Given the description of an element on the screen output the (x, y) to click on. 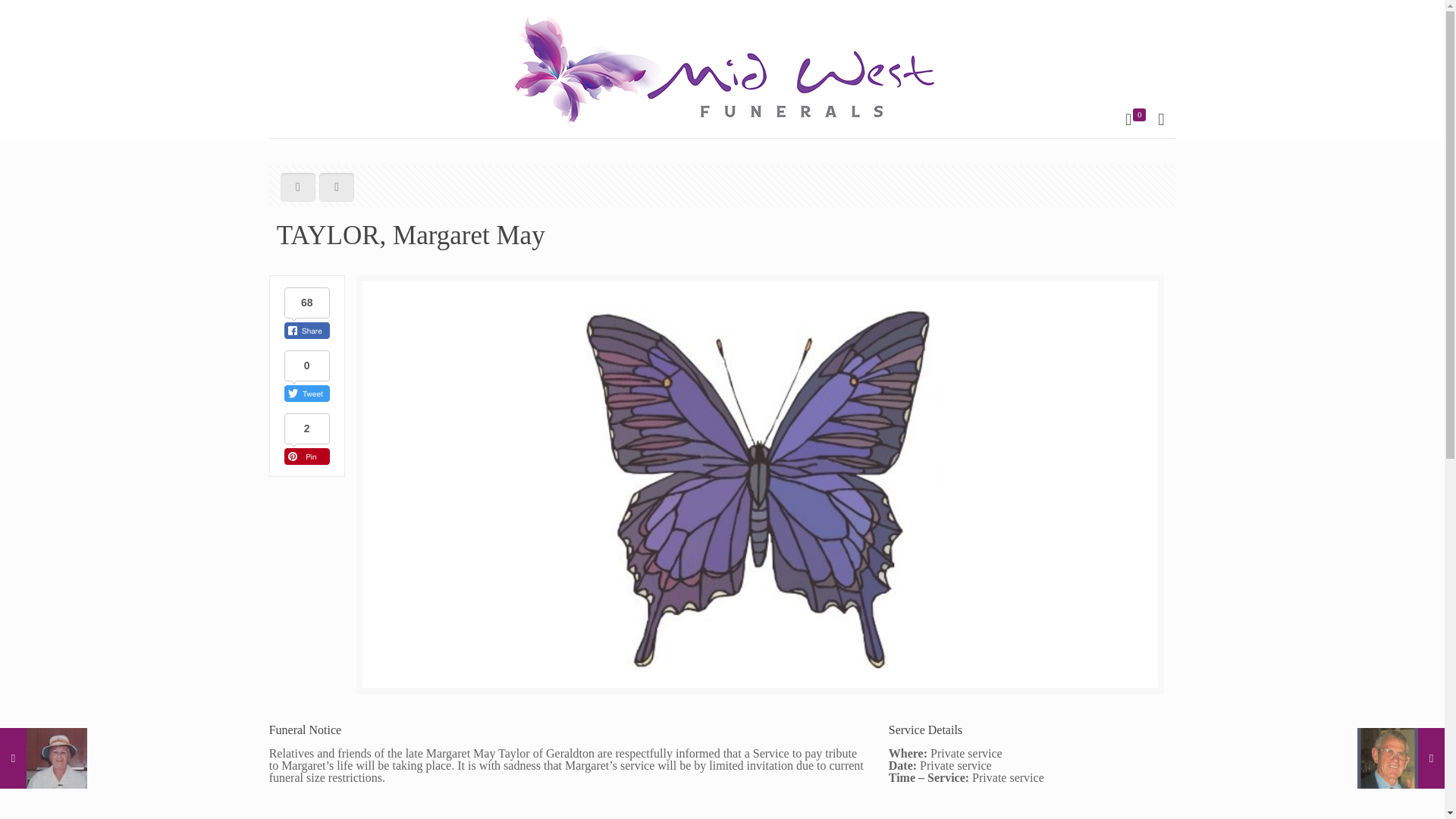
0 (1134, 119)
Mid West Funerals (721, 69)
